Given the description of an element on the screen output the (x, y) to click on. 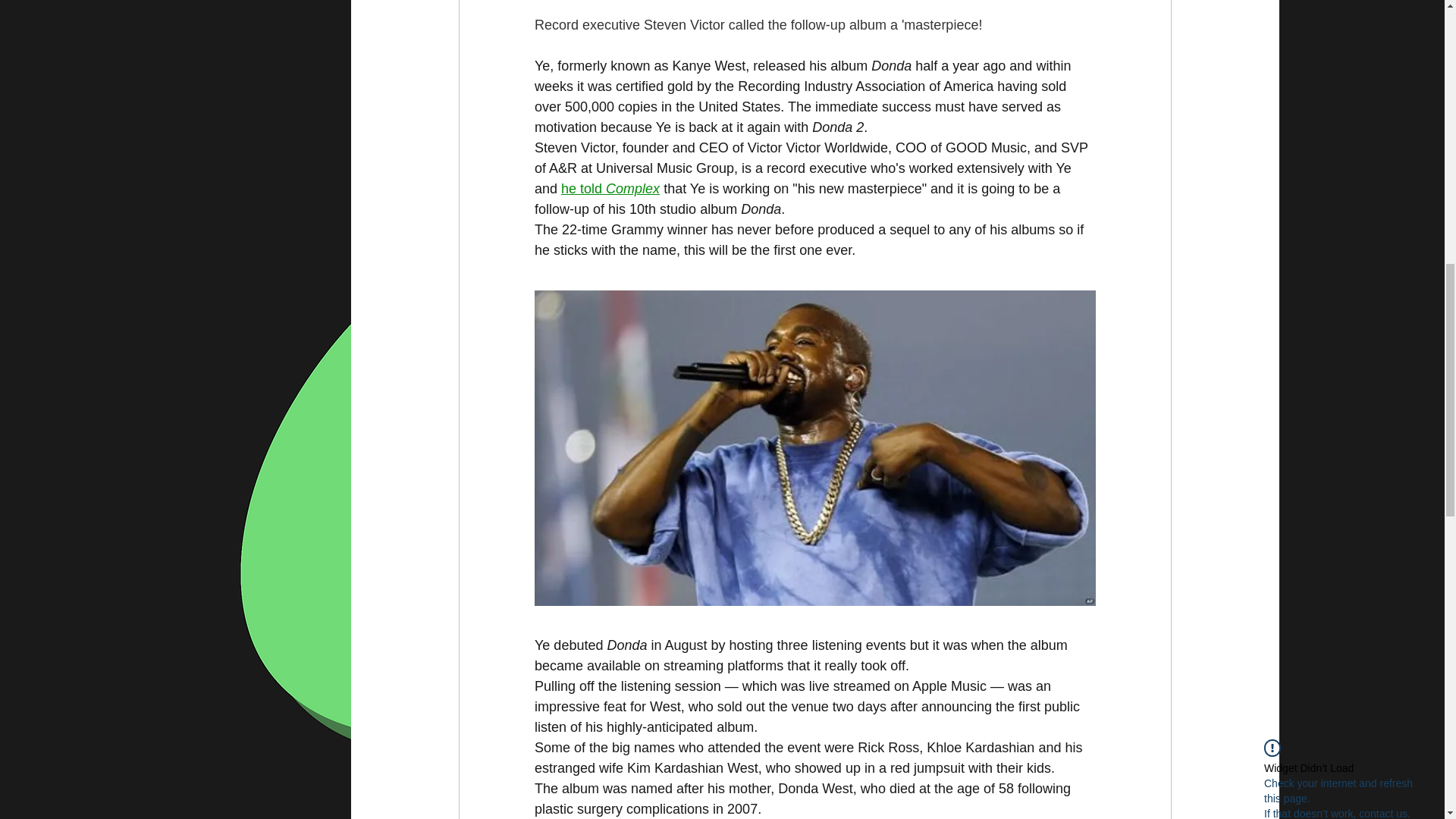
Complex (632, 188)
he told  (582, 188)
